Given the description of an element on the screen output the (x, y) to click on. 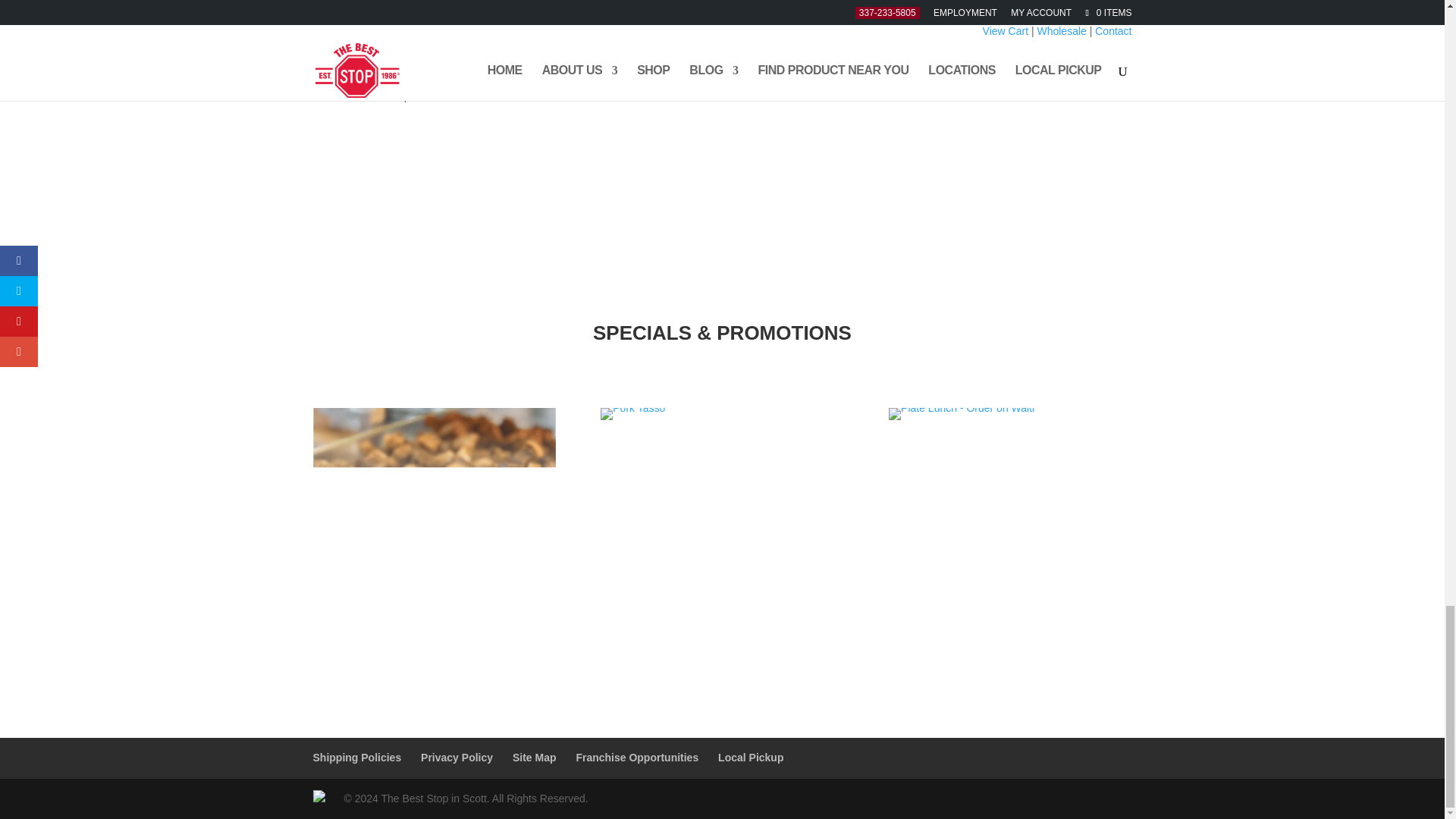
Franchise Opportunities (636, 757)
Site Map (534, 757)
Privacy Policy (456, 757)
Shipping Policies (357, 757)
Local Pickup (750, 757)
